Given the description of an element on the screen output the (x, y) to click on. 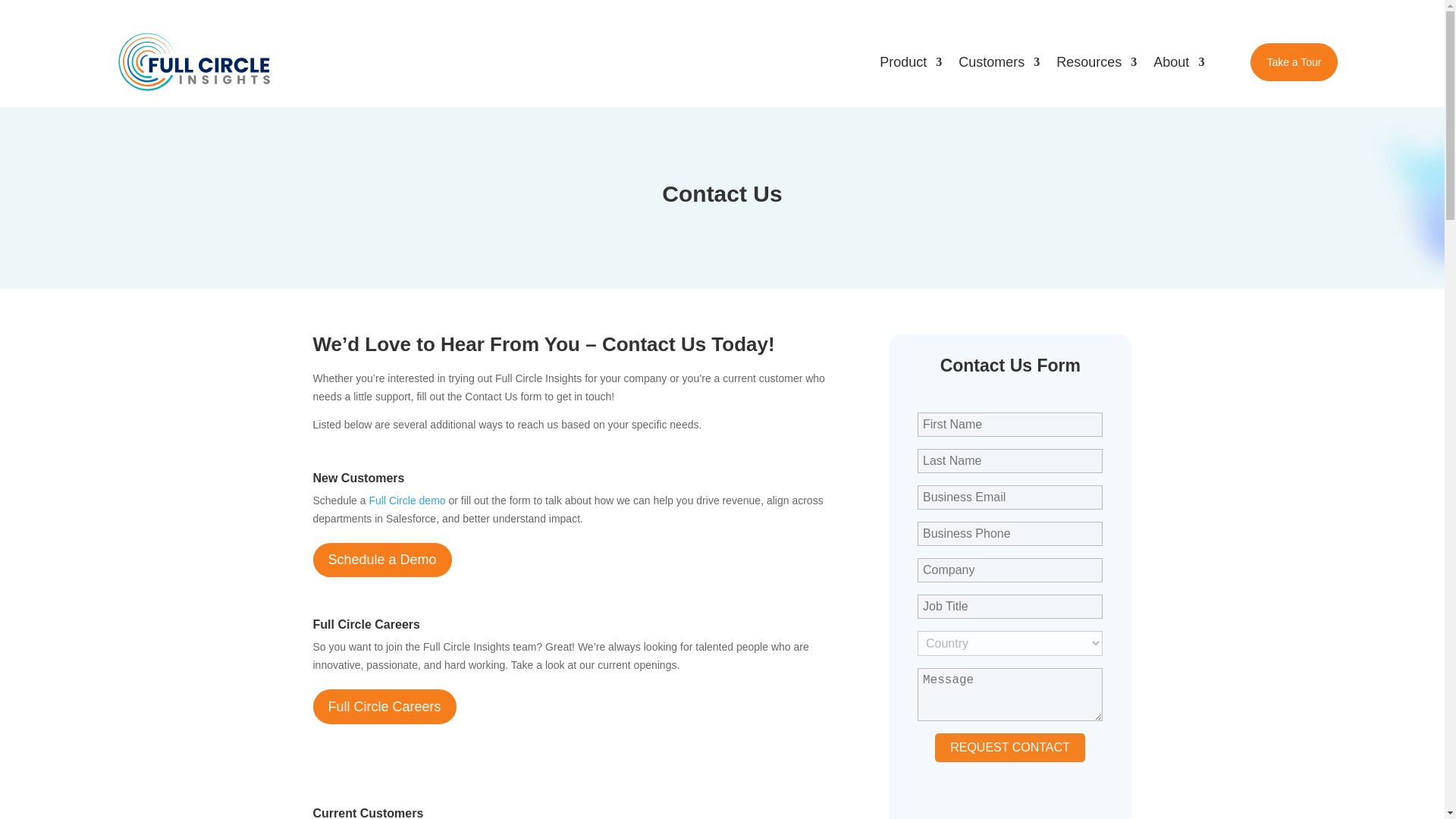
Take a Tour (1293, 62)
Product (910, 61)
Customers (998, 61)
Resources (1097, 61)
